Given the description of an element on the screen output the (x, y) to click on. 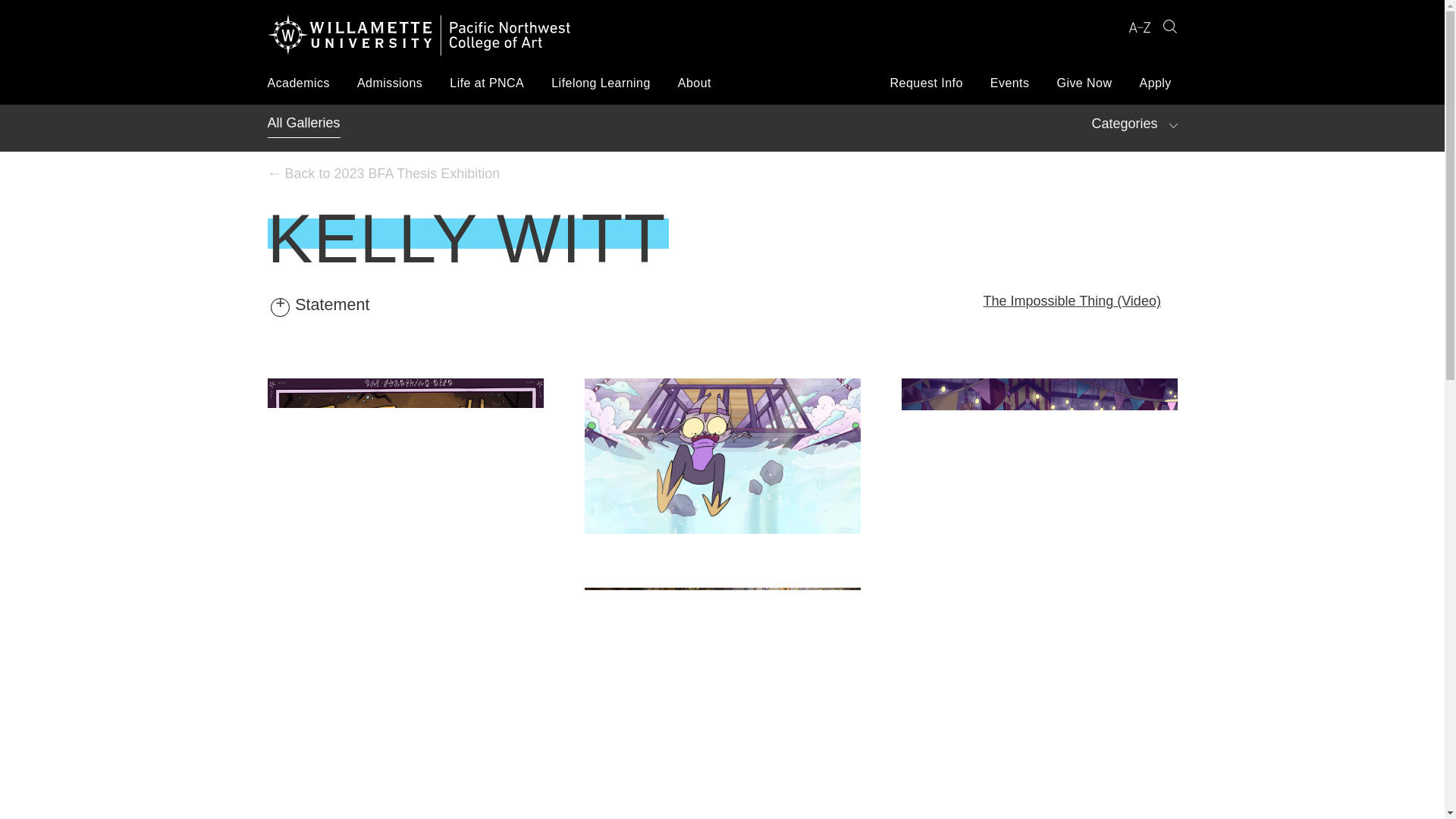
Academics (297, 83)
Group 2 (1168, 26)
Created with Sketch. (1139, 26)
Group 2 (1168, 27)
Search (1168, 27)
Created with Sketch. (1139, 30)
PNCA (418, 37)
